Given the description of an element on the screen output the (x, y) to click on. 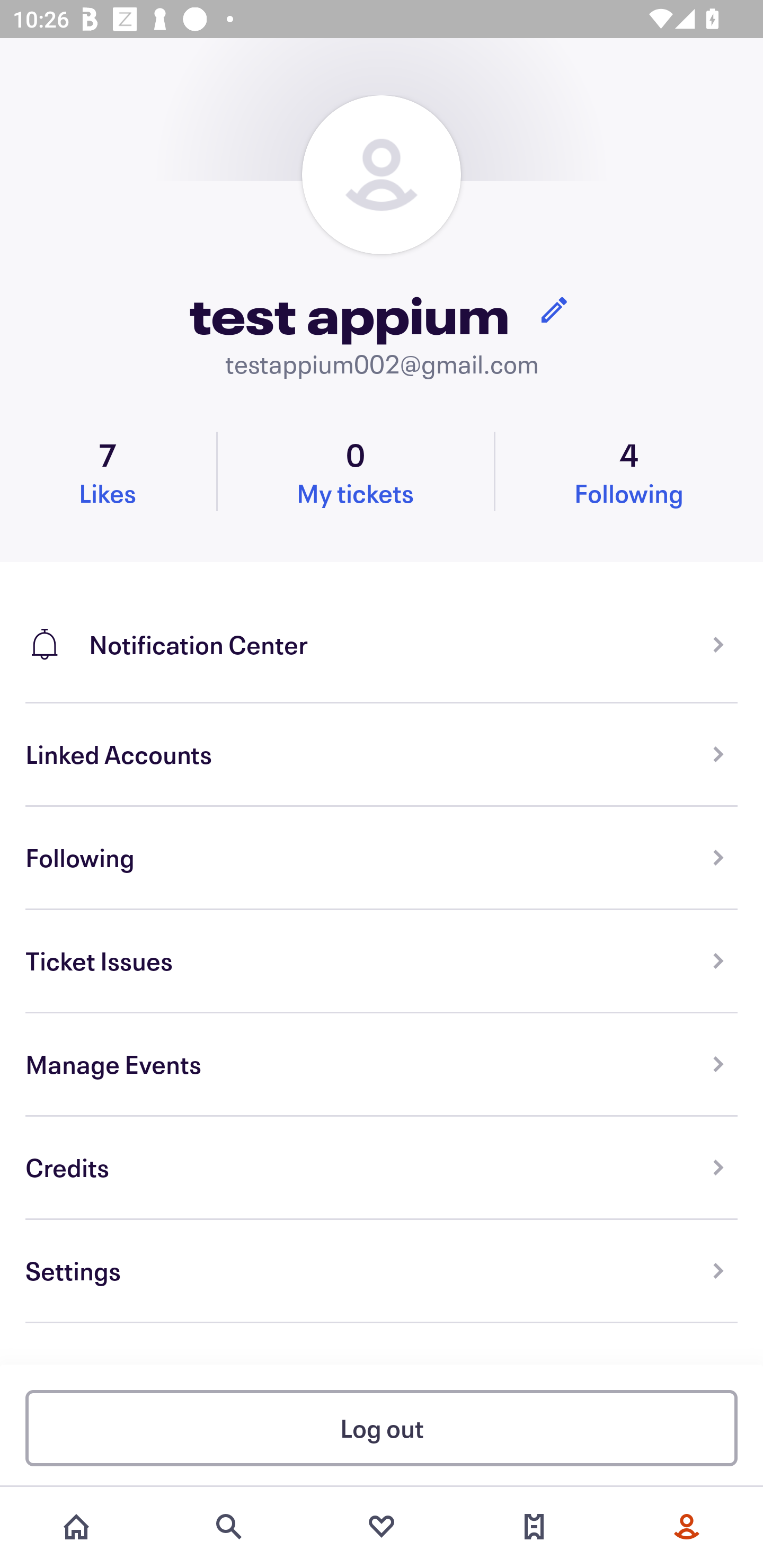
test appium testappium002@gmail.com (381, 238)
7 Likes (107, 470)
0 My tickets (355, 470)
4 Following (629, 470)
Notification Center (381, 632)
Linked Accounts (381, 755)
Following (381, 858)
Ticket Issues (381, 960)
Manage Events (381, 1064)
Credits (381, 1167)
Settings (381, 1271)
Log out (381, 1427)
Home (76, 1526)
Search events (228, 1526)
Favorites (381, 1526)
Tickets (533, 1526)
More (686, 1526)
